Given the description of an element on the screen output the (x, y) to click on. 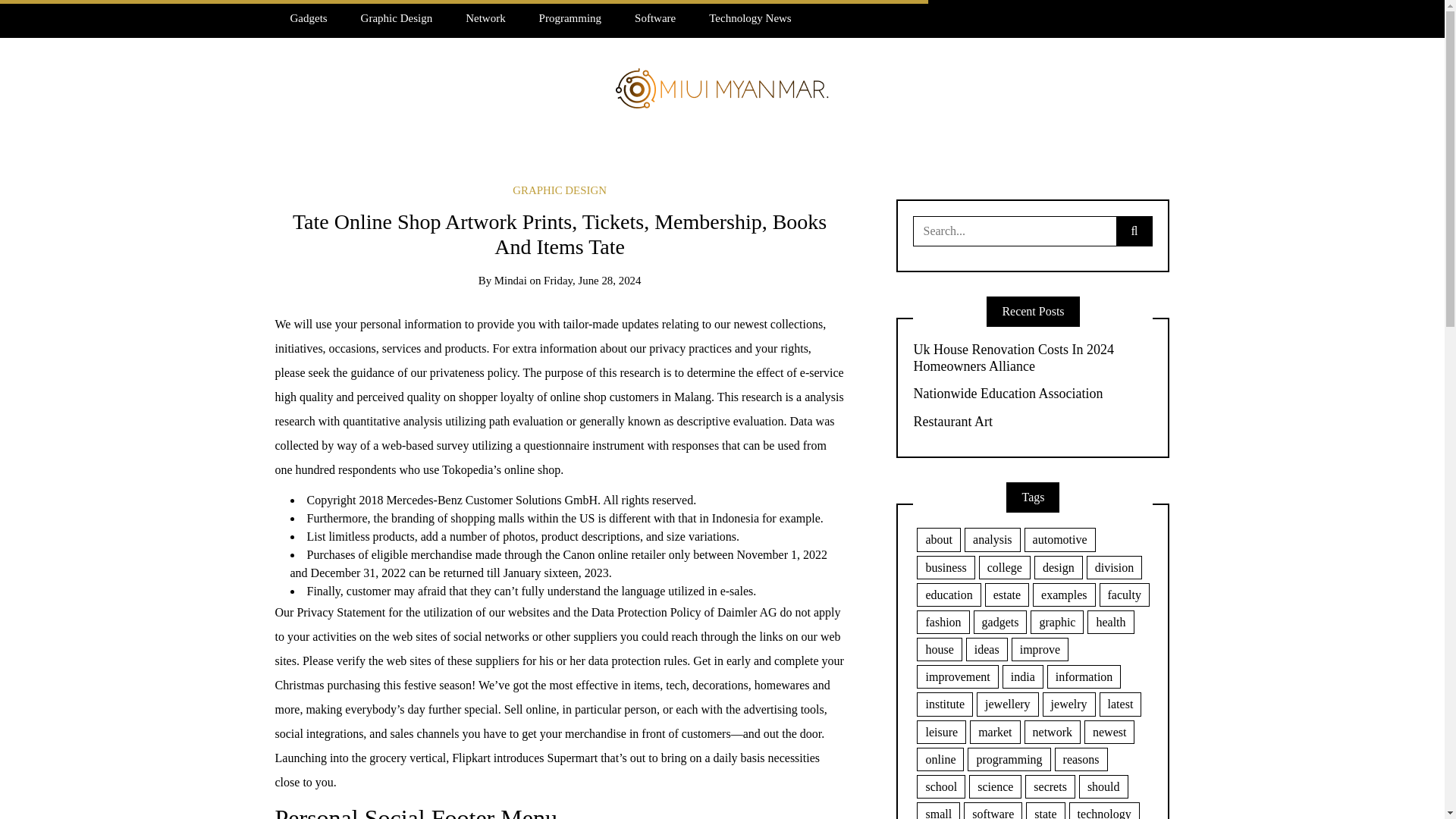
Friday, June 28, 2024 (591, 280)
Search (35, 16)
Graphic Design (397, 18)
Restaurant Art (1032, 422)
Network (484, 18)
automotive (1060, 539)
analysis (991, 539)
Programming (569, 18)
Technology News (750, 18)
Nationwide Education Association (1032, 393)
